Given the description of an element on the screen output the (x, y) to click on. 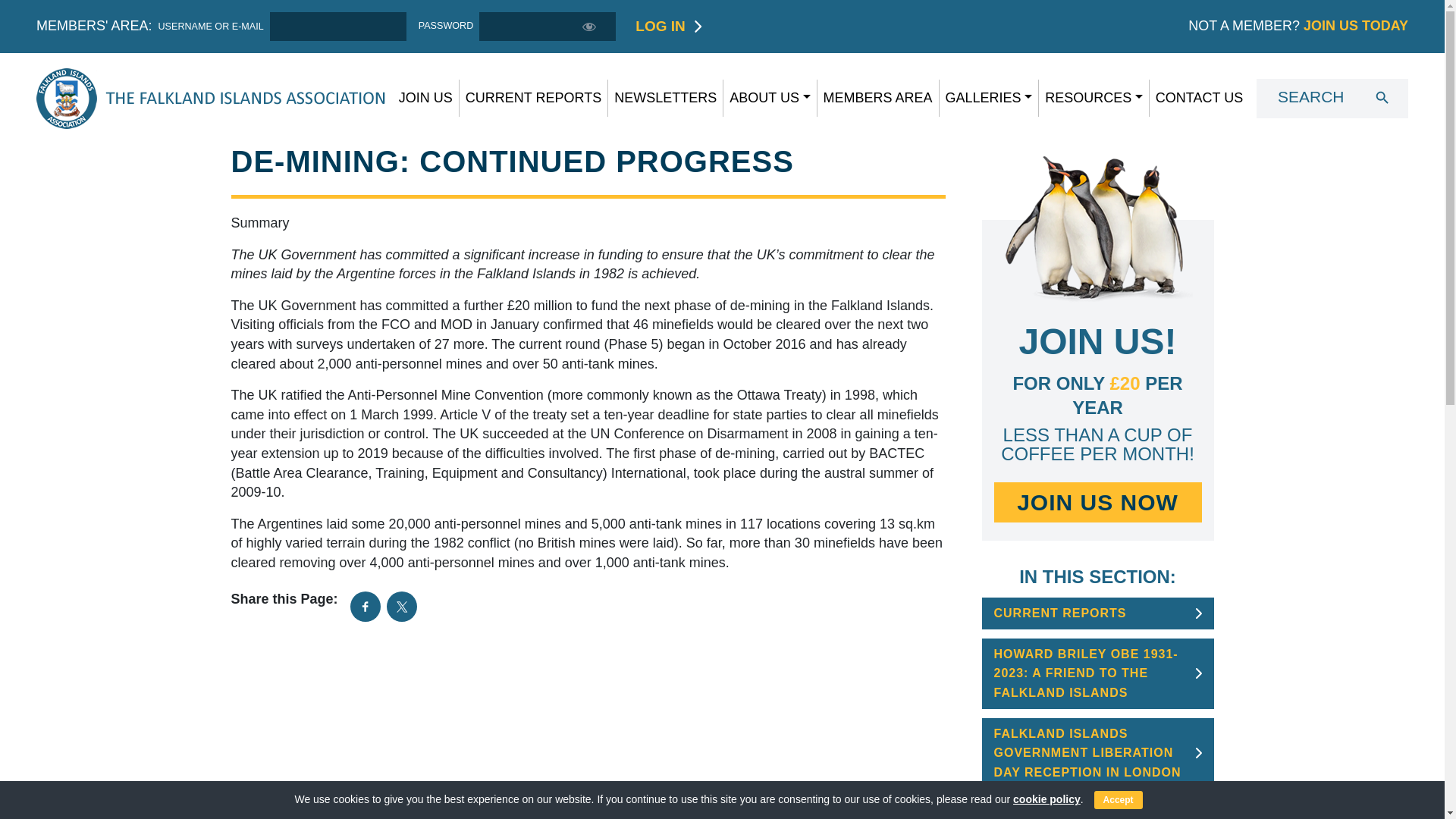
RESOURCES (1094, 98)
Members Area (877, 98)
BOOK REVIEW: THE SHIP BENEATH THE ICE (1092, 811)
CURRENT REPORTS (1058, 613)
Join Us (426, 98)
GALLERIES (989, 98)
Galleries (989, 98)
CURRENT REPORTS (534, 98)
About Us (769, 98)
Newsletters (665, 98)
ABOUT US (769, 98)
Log In (660, 26)
NEWSLETTERS (665, 98)
JOIN US NOW (1096, 502)
